Given the description of an element on the screen output the (x, y) to click on. 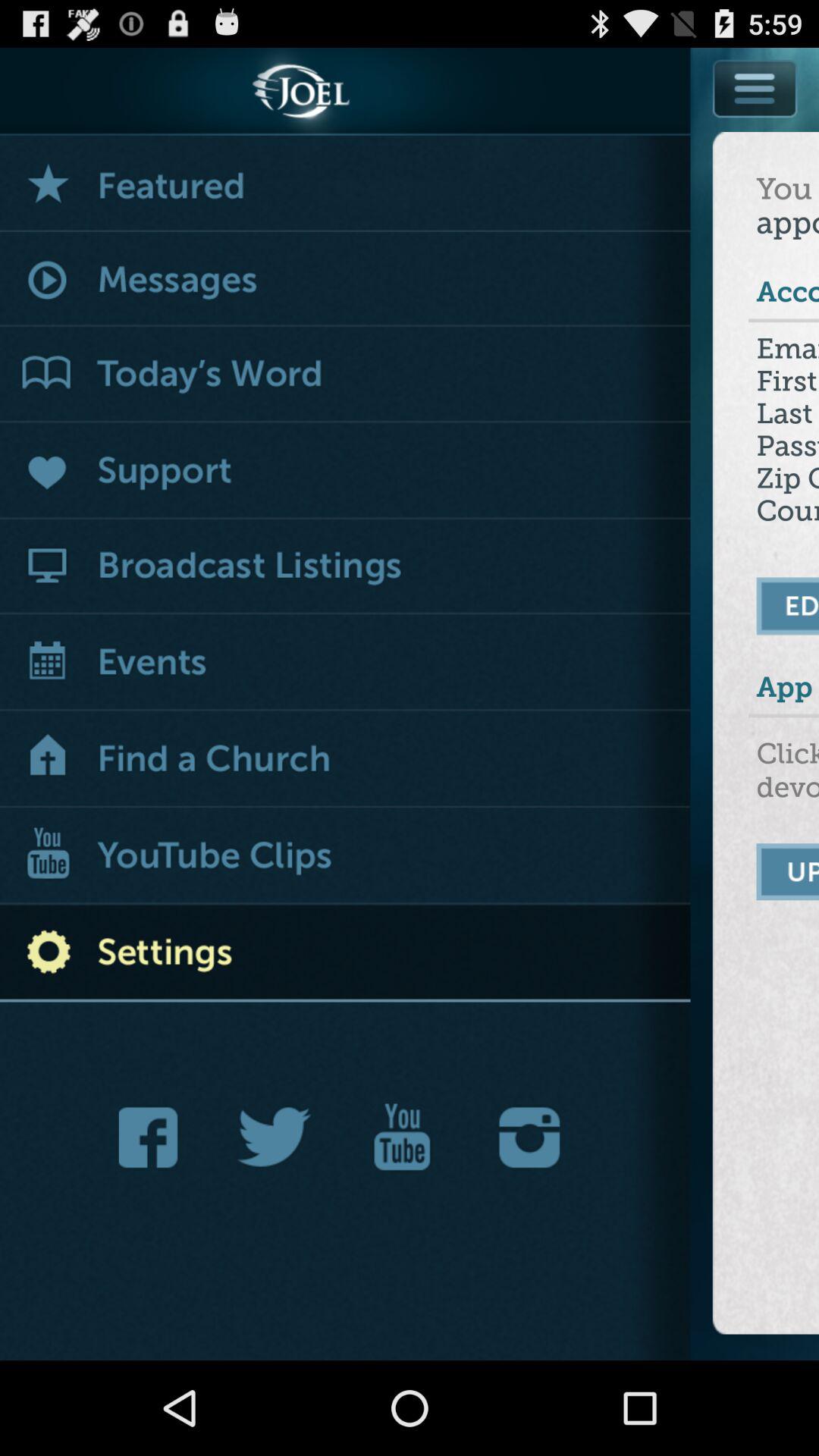
see broadcast listings (345, 566)
